Given the description of an element on the screen output the (x, y) to click on. 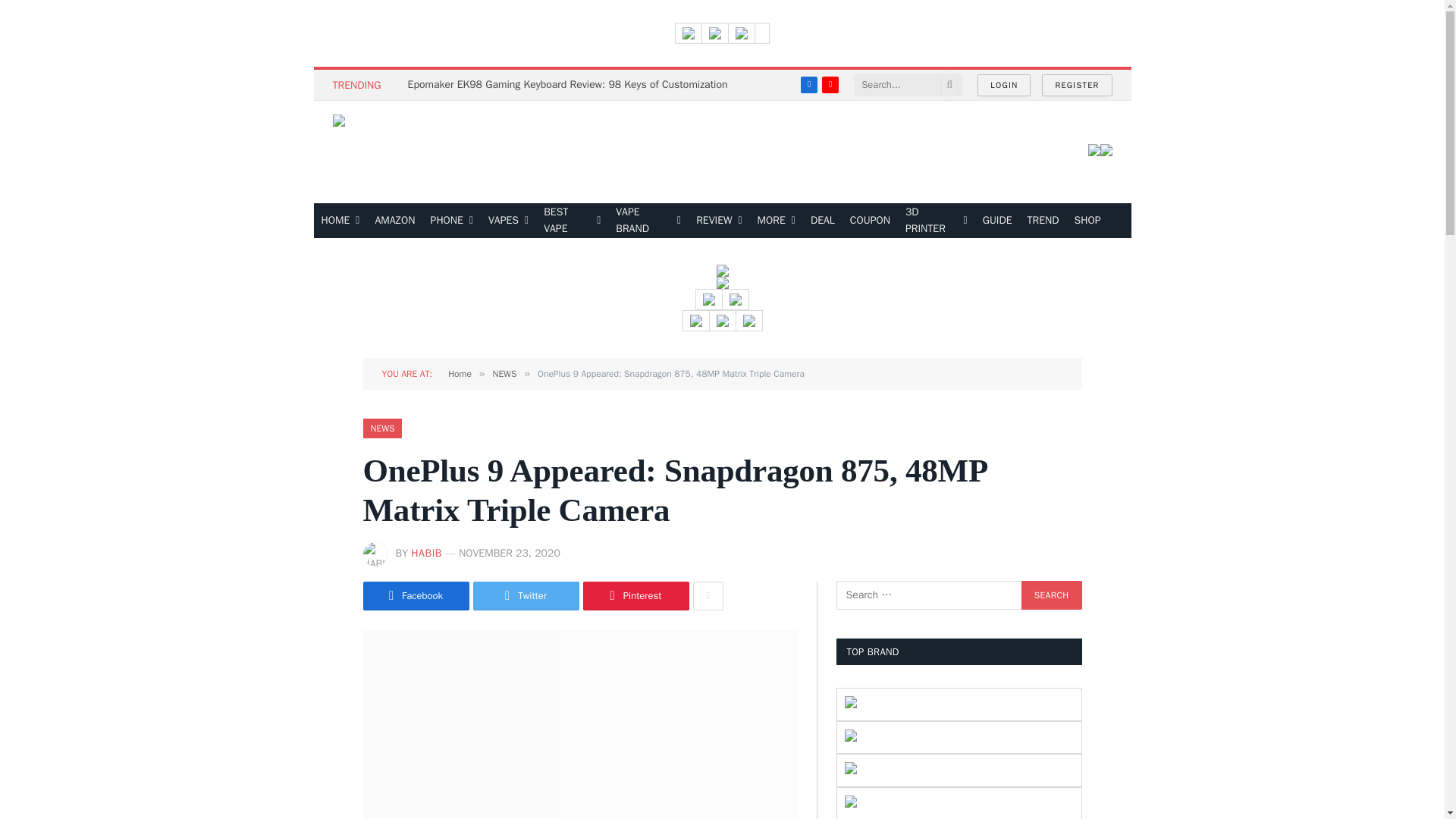
Posts by Habib (426, 553)
Show More Social Sharing (708, 595)
LOGIN (1003, 85)
PHONE (451, 220)
YouTube (830, 84)
Search (1051, 594)
AMAZON (394, 220)
Share on Pinterest (635, 595)
